Given the description of an element on the screen output the (x, y) to click on. 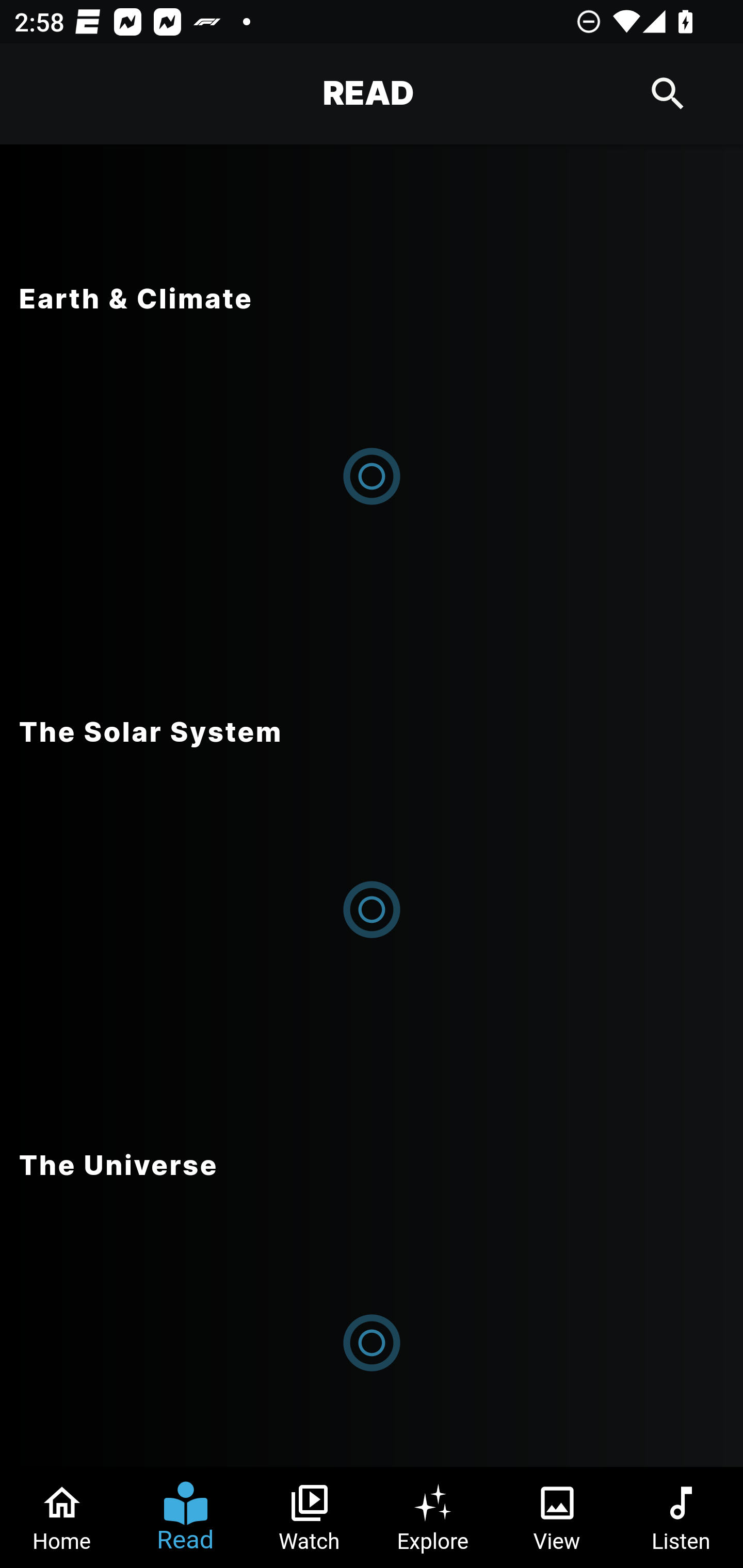
Home
Tab 1 of 6 (62, 1517)
Read
Tab 2 of 6 (185, 1517)
Watch
Tab 3 of 6 (309, 1517)
Explore
Tab 4 of 6 (433, 1517)
View
Tab 5 of 6 (556, 1517)
Listen
Tab 6 of 6 (680, 1517)
